Given the description of an element on the screen output the (x, y) to click on. 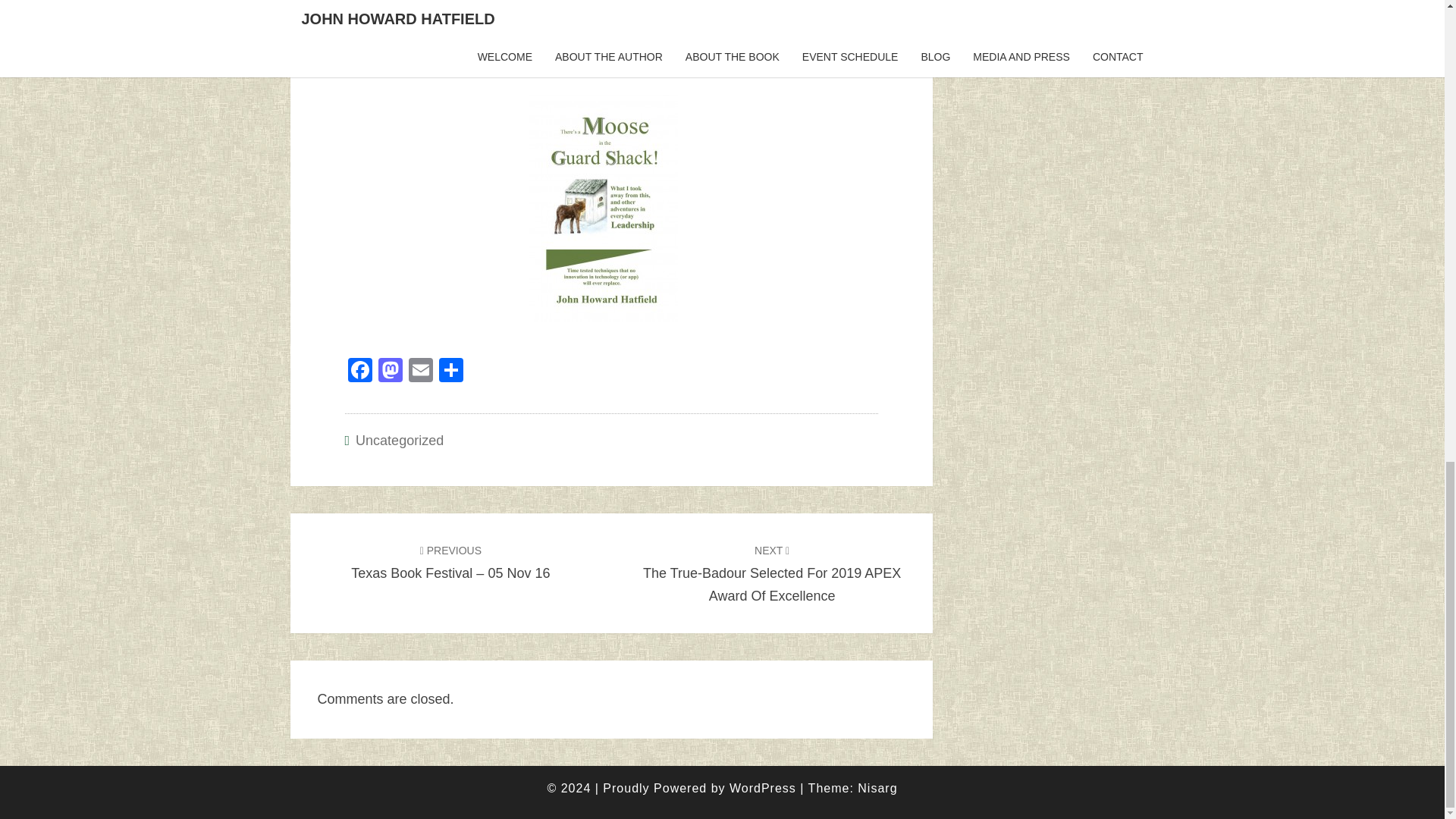
Facebook (358, 371)
Facebook (358, 371)
Nisarg (876, 788)
Email (419, 371)
Email (419, 371)
Uncategorized (399, 440)
Mastodon (389, 371)
Mastodon (389, 371)
WordPress (762, 788)
Share (450, 371)
